Given the description of an element on the screen output the (x, y) to click on. 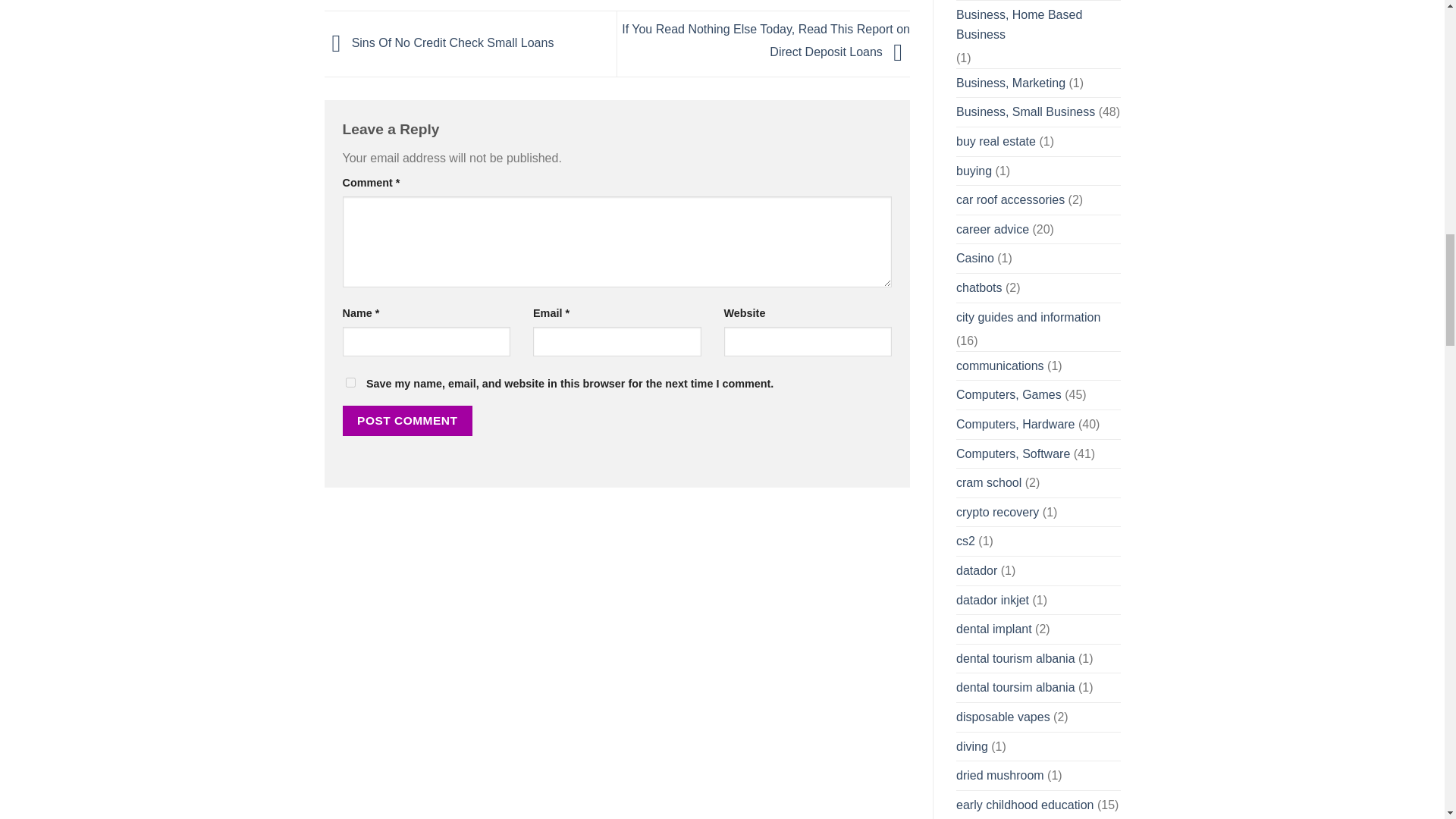
Post Comment (407, 419)
Post Comment (407, 419)
Sins Of No Credit Check Small Loans (439, 42)
yes (350, 382)
